Given the description of an element on the screen output the (x, y) to click on. 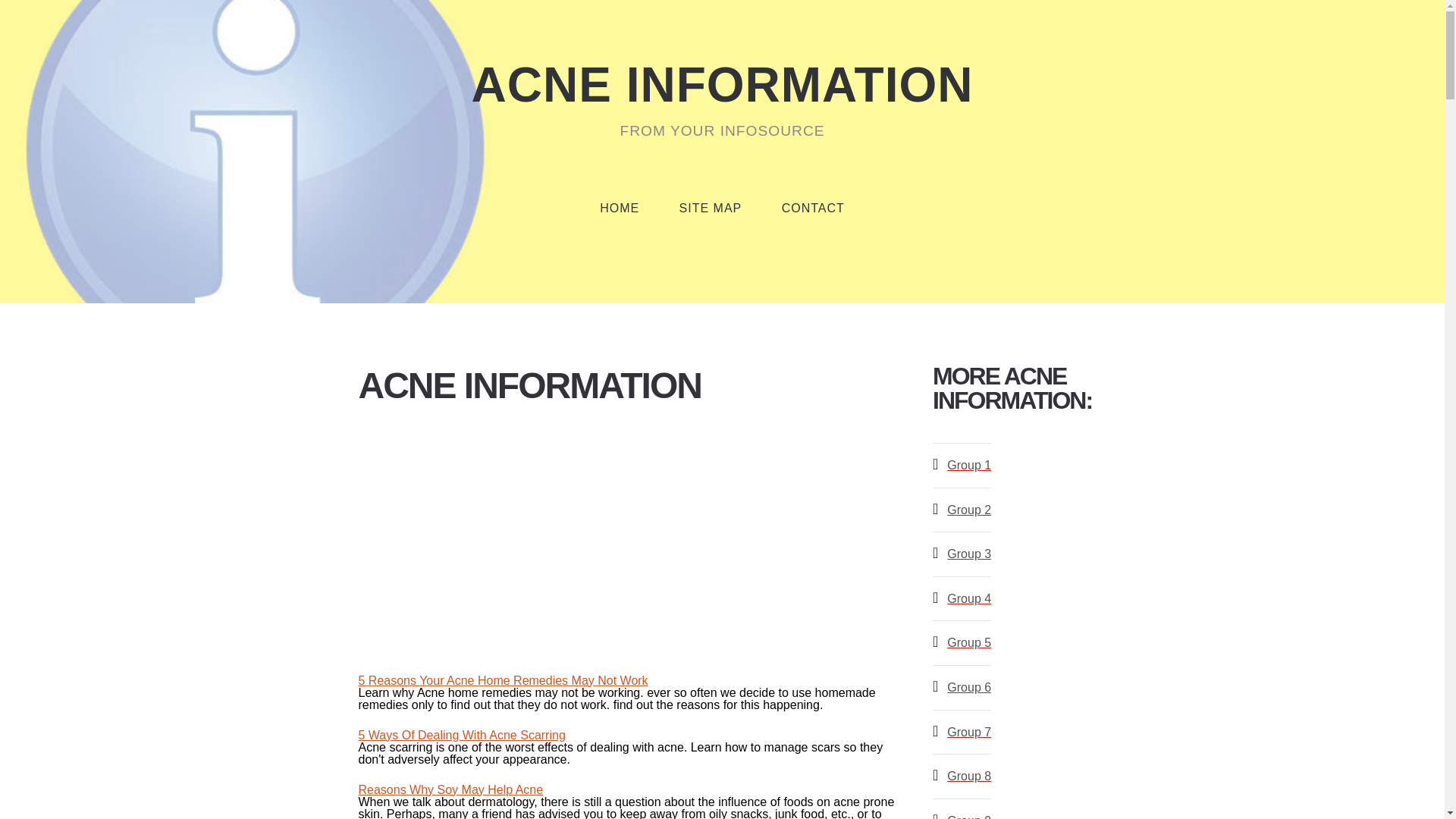
5 Reasons Your Acne Home Remedies May Not Work (502, 680)
SITE MAP (710, 208)
Reasons Why Soy May Help Acne (450, 789)
HOME (619, 208)
CONTACT (812, 208)
5 Ways Of Dealing With Acne Scarring (461, 735)
ACNE INFORMATION (722, 84)
Advertisement (626, 538)
